Given the description of an element on the screen output the (x, y) to click on. 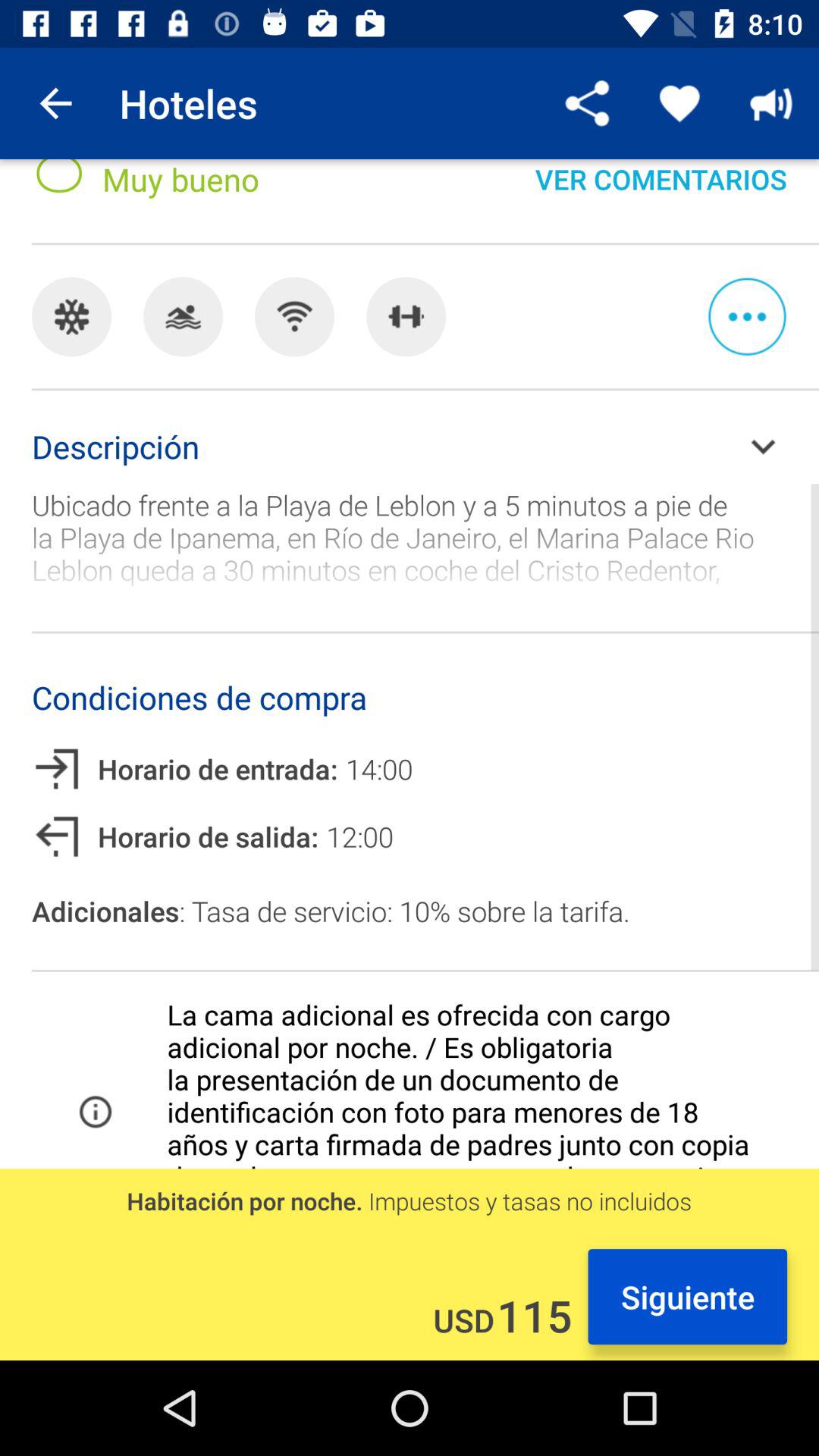
choose ver comentarios icon (661, 192)
